Given the description of an element on the screen output the (x, y) to click on. 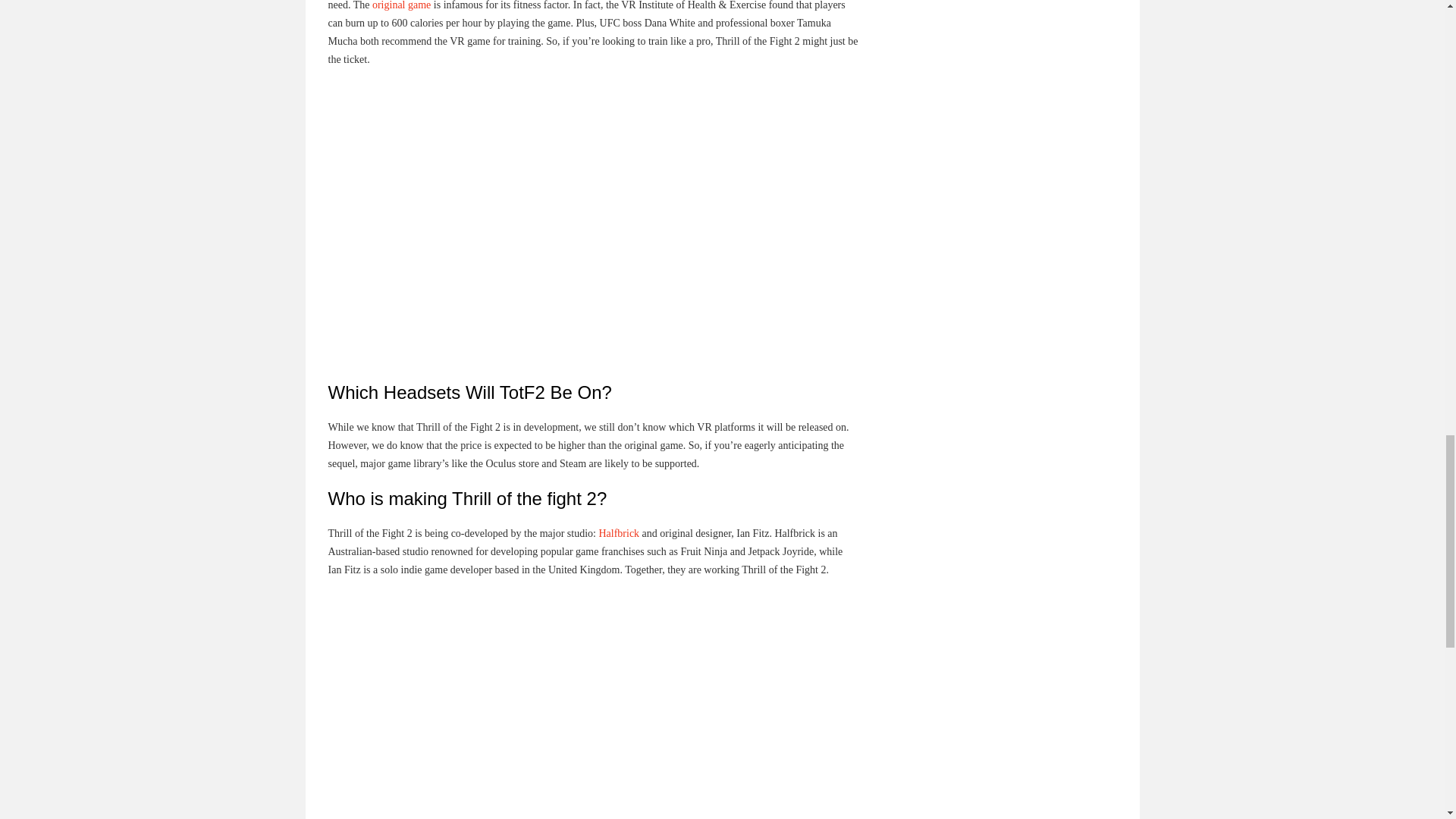
Halfbrick (618, 532)
original game (401, 4)
